Given the description of an element on the screen output the (x, y) to click on. 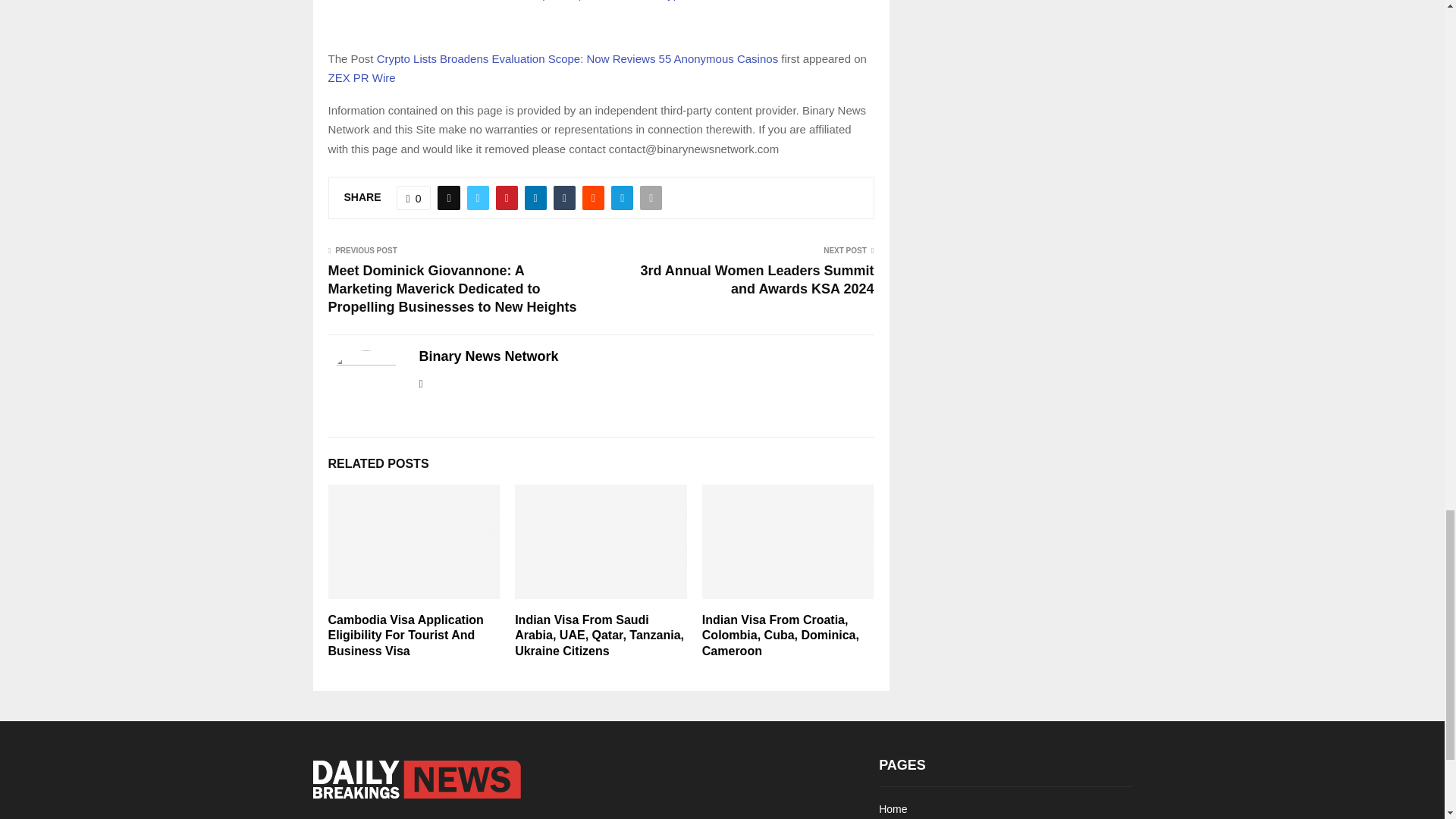
Like (413, 197)
